Given the description of an element on the screen output the (x, y) to click on. 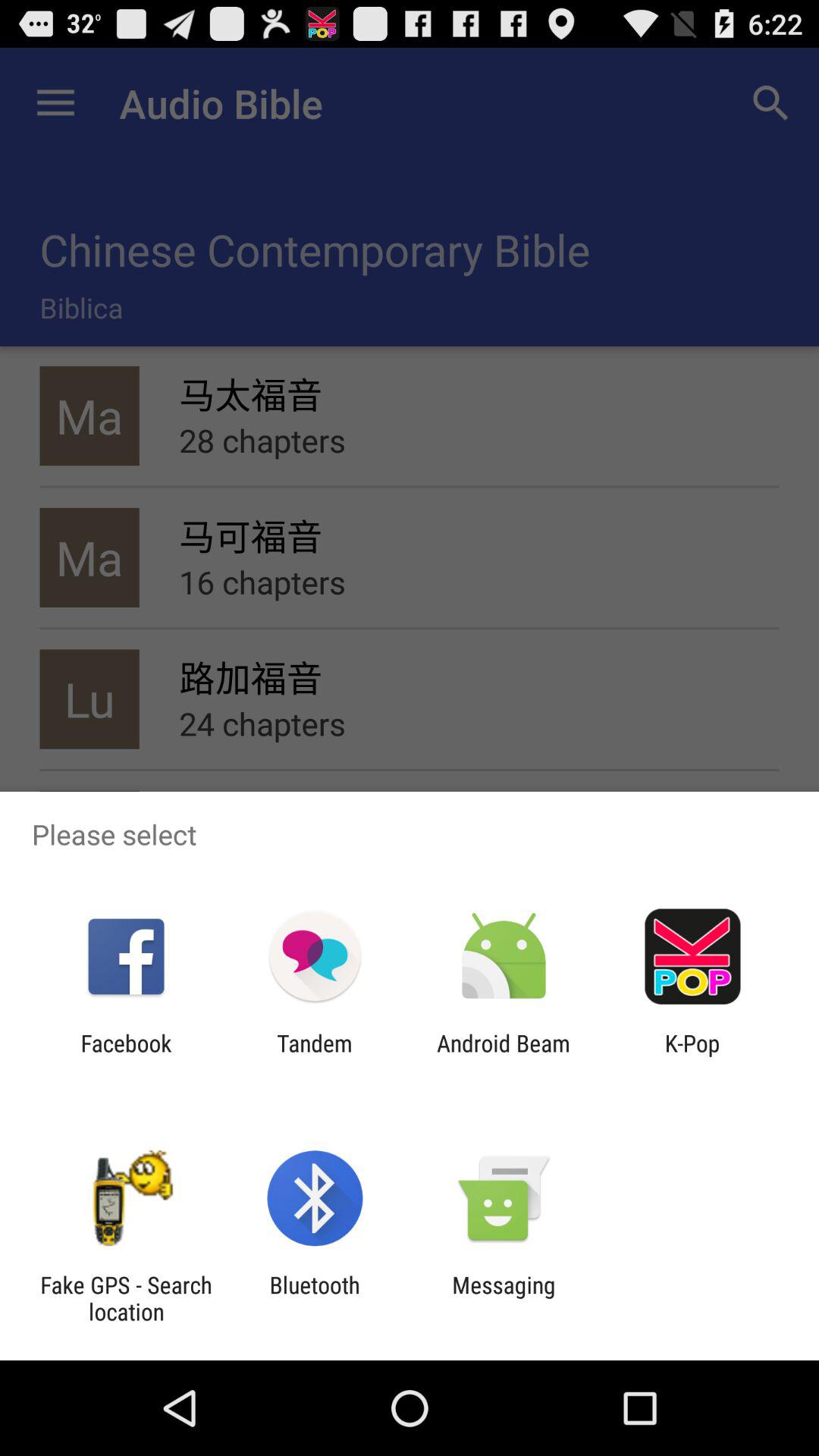
jump to messaging icon (503, 1298)
